Given the description of an element on the screen output the (x, y) to click on. 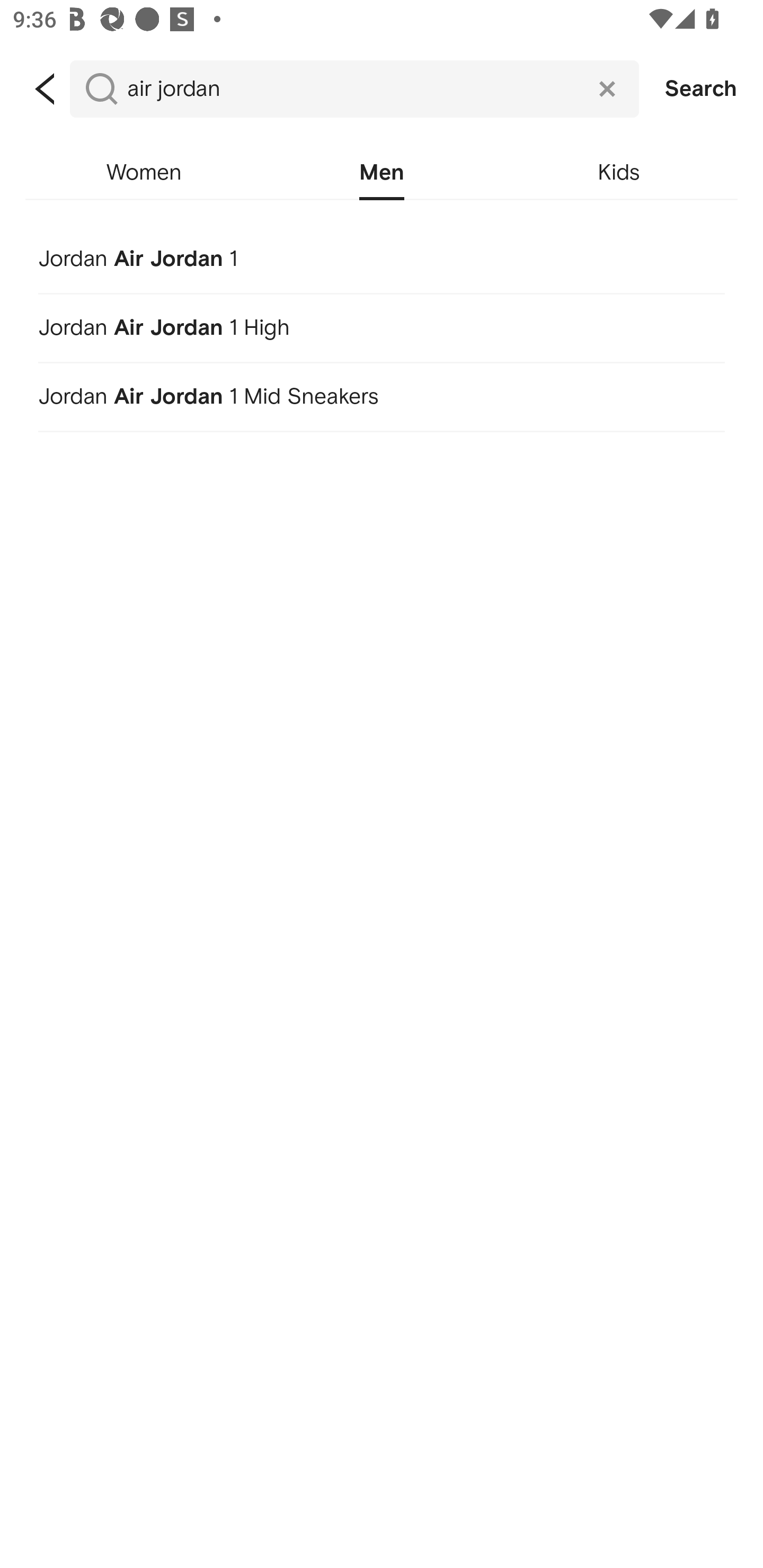
air jordan (354, 89)
Search (701, 89)
Women (143, 172)
Kids (618, 172)
Jordan Air Jordan 1 (381, 255)
Jordan Air Jordan 1 High (381, 324)
Jordan Air Jordan 1 Mid Sneakers (381, 397)
